Given the description of an element on the screen output the (x, y) to click on. 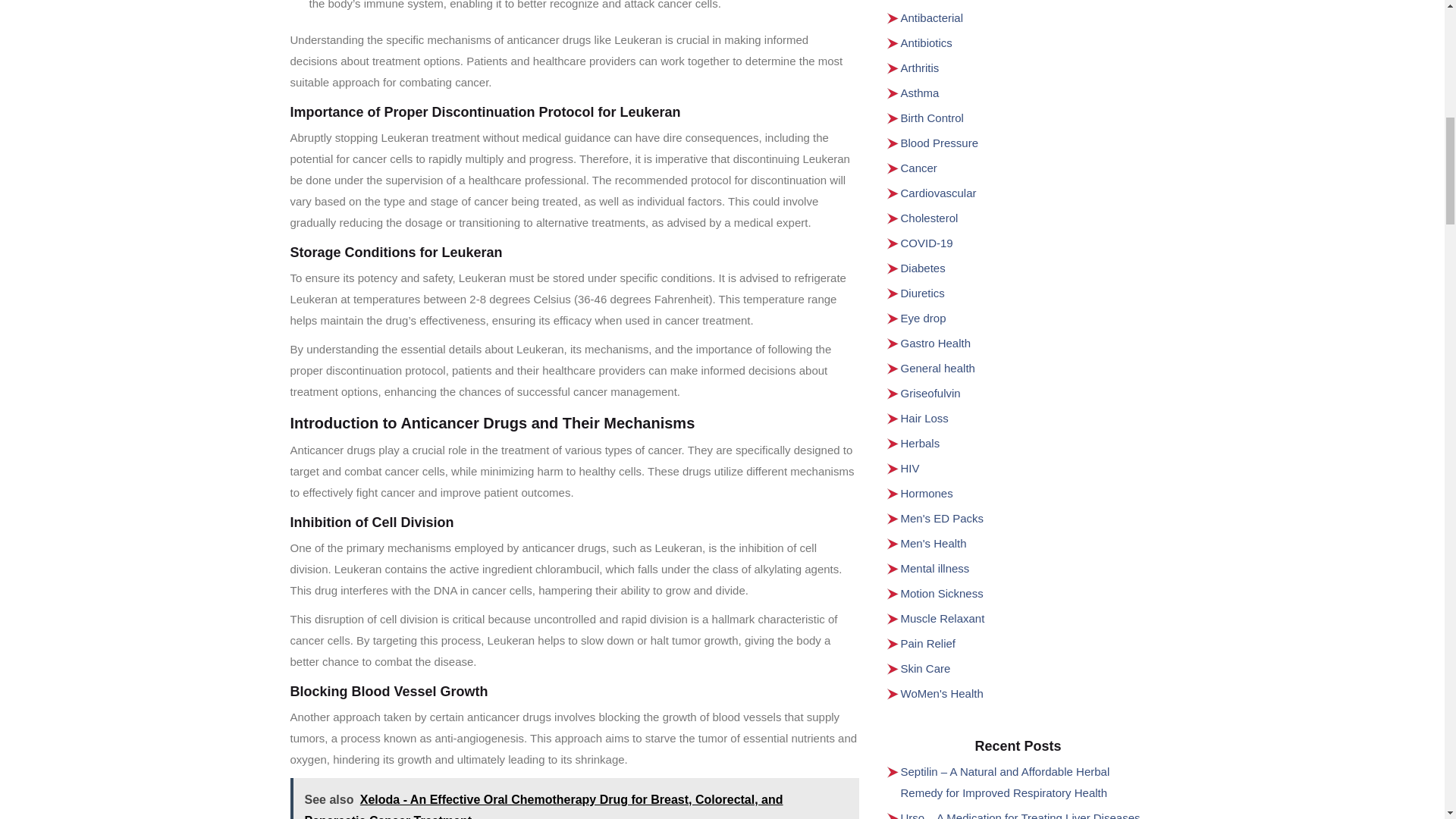
Antibacterial (932, 17)
Antibiotics (926, 42)
Diabetes (922, 267)
Hair Loss (925, 418)
Gastro Health (936, 342)
Cardiovascular (938, 192)
COVID-19 (927, 242)
Asthma (920, 92)
Eye drop (923, 318)
Griseofulvin (930, 392)
General health (938, 367)
Diuretics (922, 292)
Blood Pressure (939, 142)
Arthritis (920, 67)
